Given the description of an element on the screen output the (x, y) to click on. 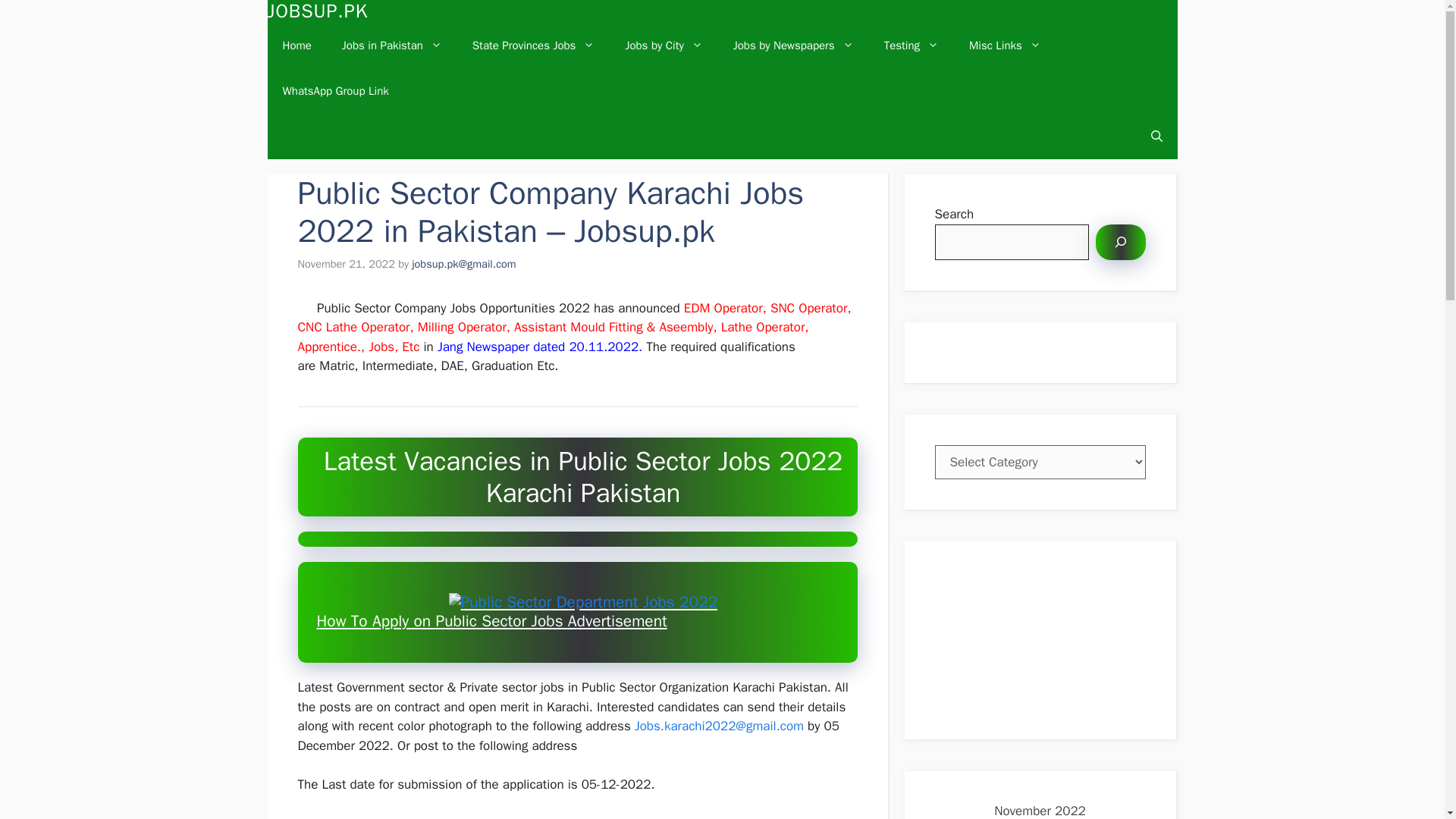
Misc Links (1005, 44)
Home (296, 44)
Jobs by City (663, 44)
Testing (911, 44)
Public Sector Department Jobs 2022 (582, 601)
Jobs in Pakistan (391, 44)
State Provinces Jobs (533, 44)
Jobs by Newspapers (793, 44)
JOBSUP.PK (317, 11)
